Given the description of an element on the screen output the (x, y) to click on. 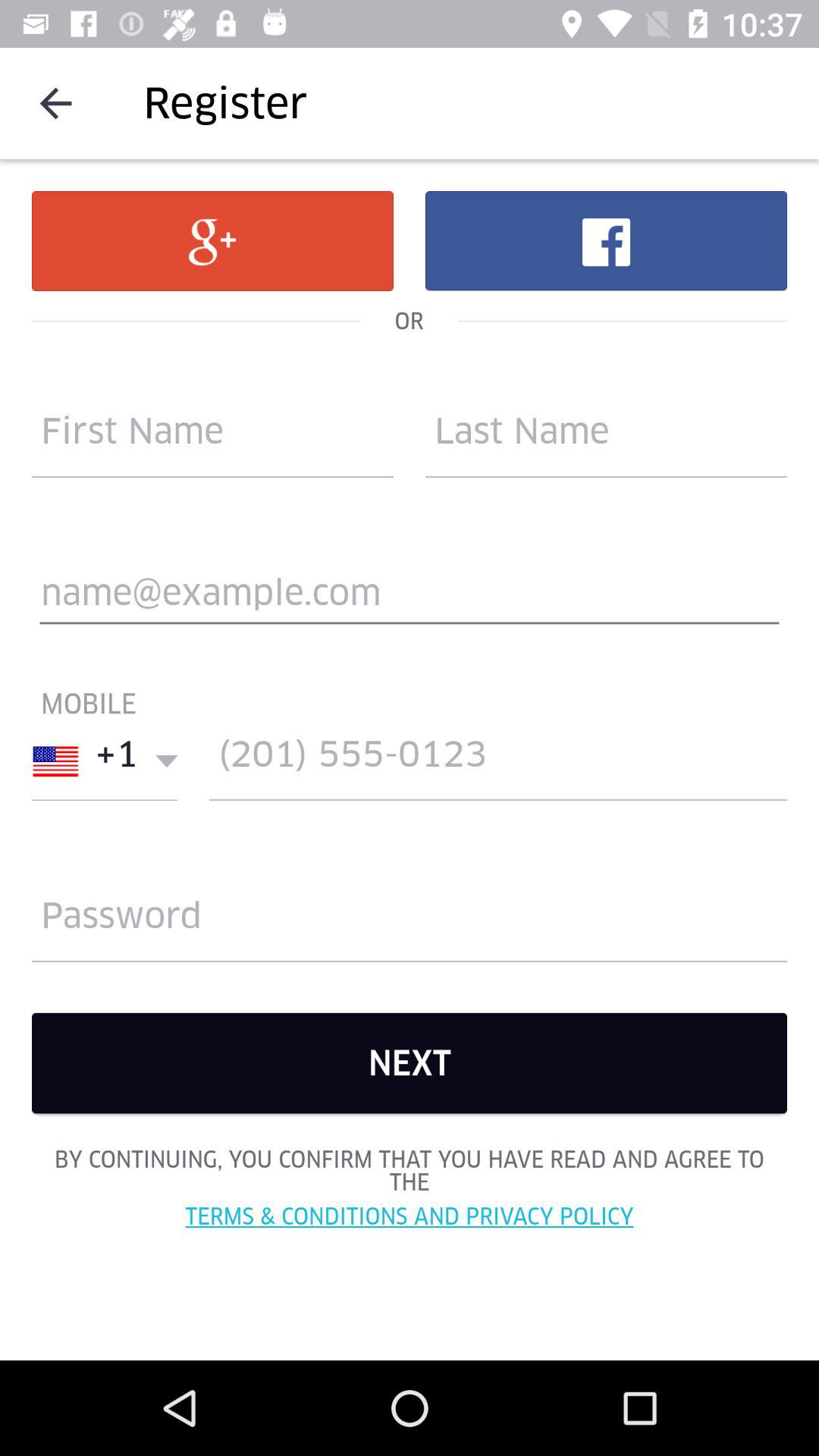
enter email address (409, 599)
